Given the description of an element on the screen output the (x, y) to click on. 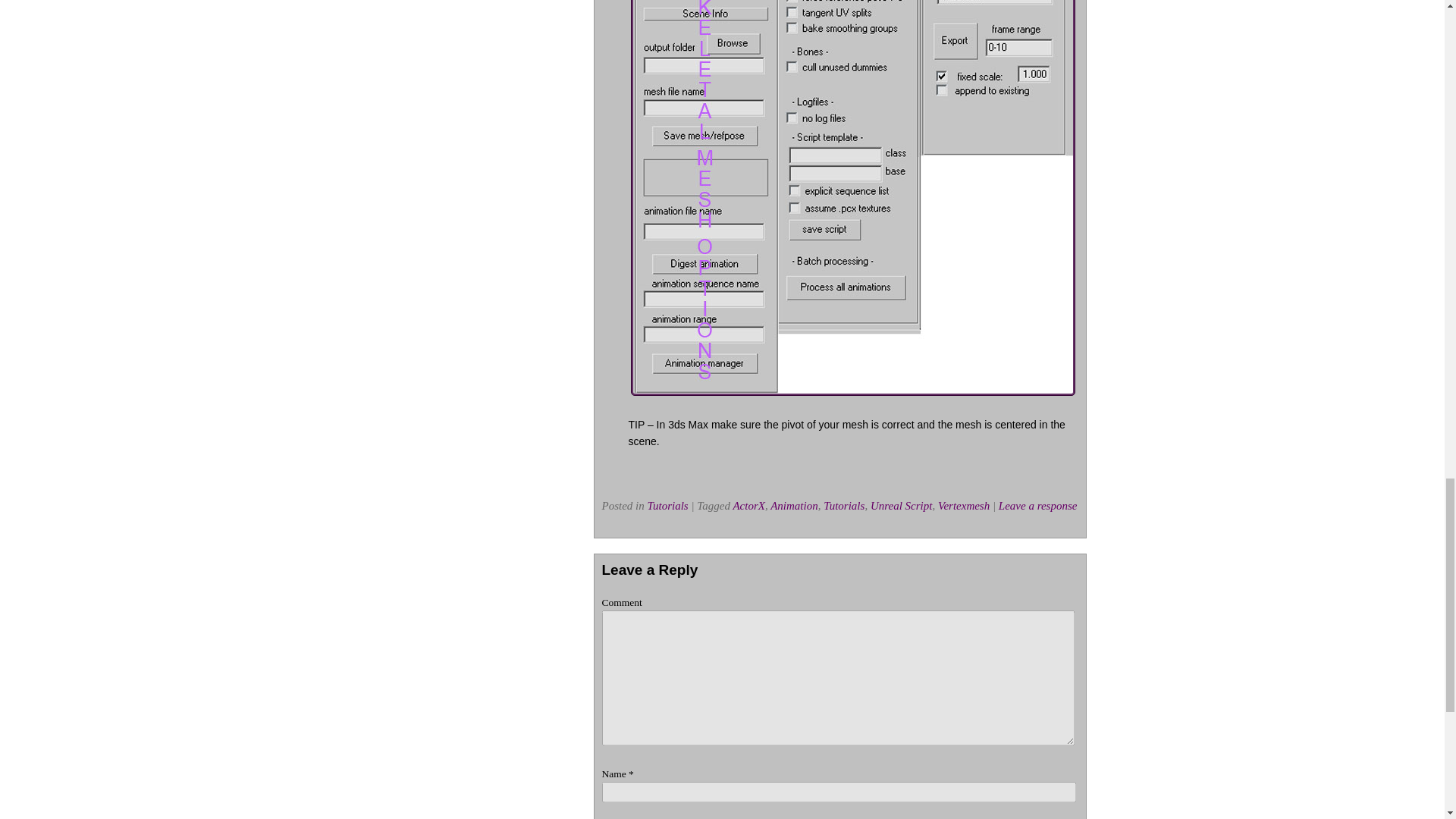
Tutorials (667, 505)
ActorX (748, 505)
Animation (794, 505)
Leave a response (1037, 505)
Vertexmesh (963, 505)
Comment on Vertex Animated Mesh Exporting with ActorX (1037, 505)
Unreal Script (901, 505)
Tutorials (844, 505)
